Given the description of an element on the screen output the (x, y) to click on. 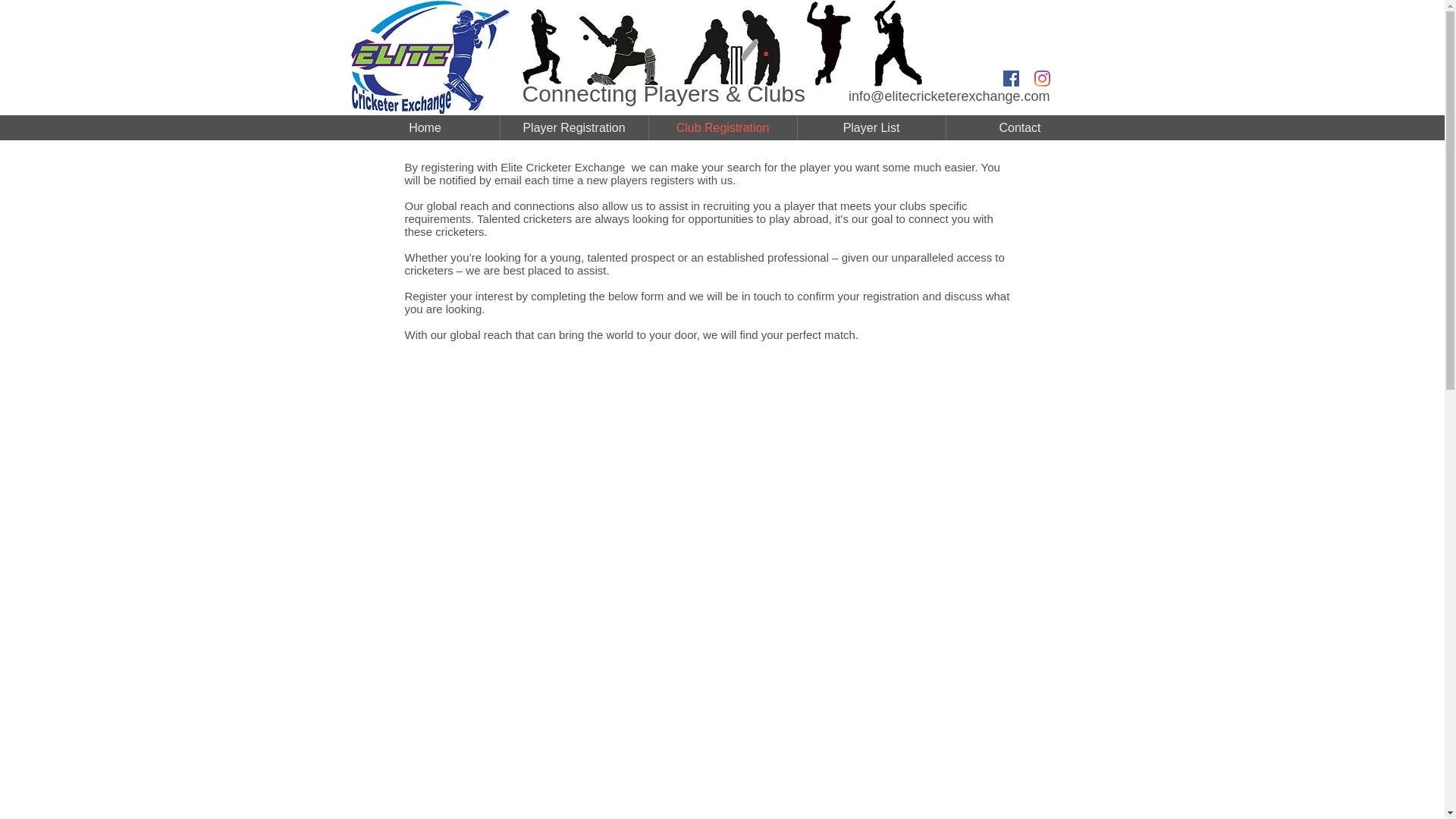
Player List (870, 127)
Player Registration (573, 127)
Club Registration (722, 127)
Contact (1020, 127)
Home (424, 127)
